Given the description of an element on the screen output the (x, y) to click on. 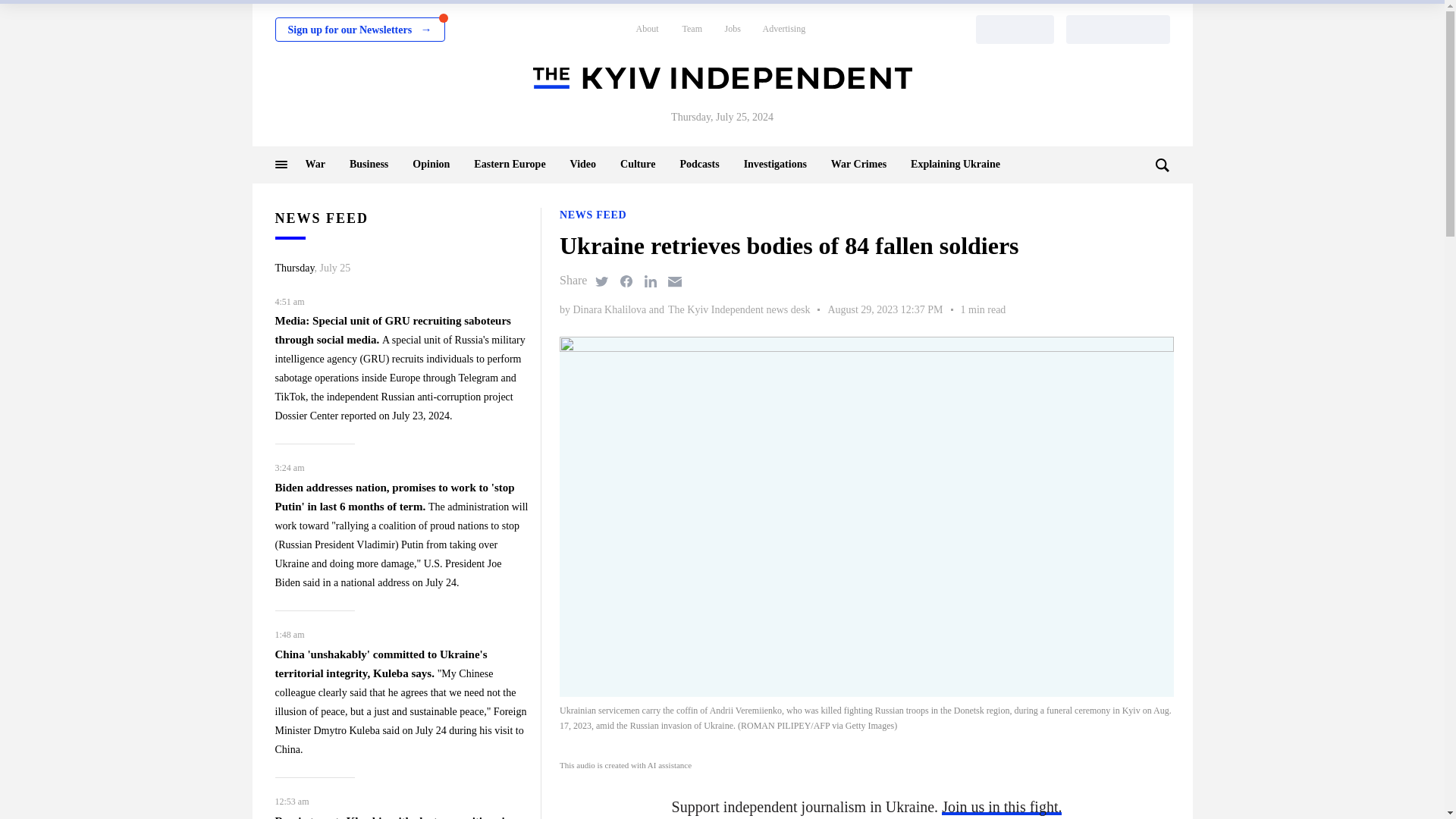
Opinion (430, 163)
Team (691, 28)
Advertising (784, 28)
Investigations (775, 163)
Jobs (733, 28)
War (314, 163)
Culture (637, 163)
Video (582, 163)
Eastern Europe (509, 163)
Explaining Ukraine (955, 163)
About (646, 28)
Business (368, 163)
Podcasts (699, 163)
War Crimes (858, 163)
